Given the description of an element on the screen output the (x, y) to click on. 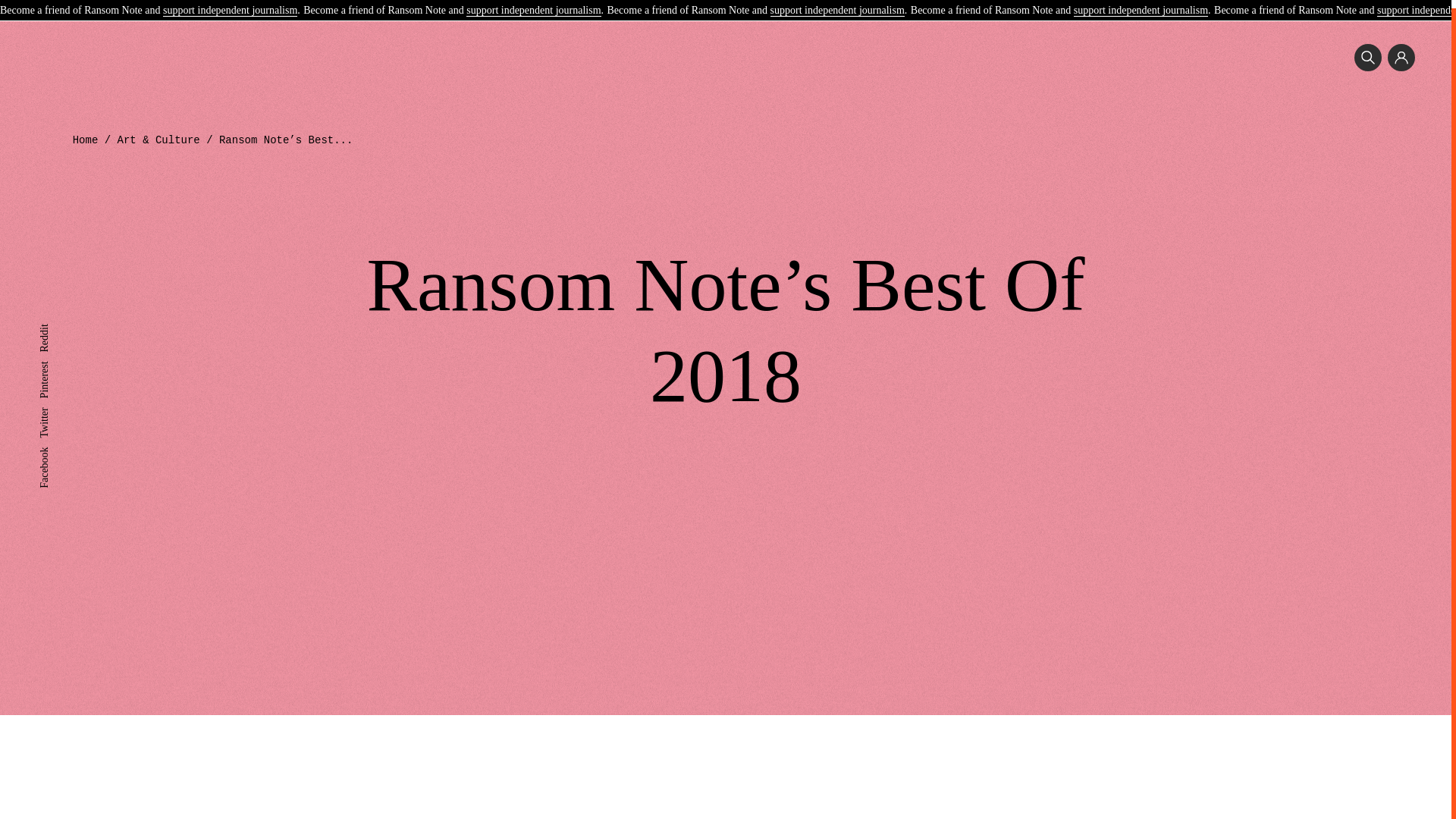
Reddit (52, 321)
support independent journalism (230, 4)
support independent journalism (837, 4)
Home (85, 140)
support independent journalism (1141, 4)
support independent journalism (532, 4)
Twitter (53, 404)
Facebook (59, 444)
Pinterest (57, 358)
